Given the description of an element on the screen output the (x, y) to click on. 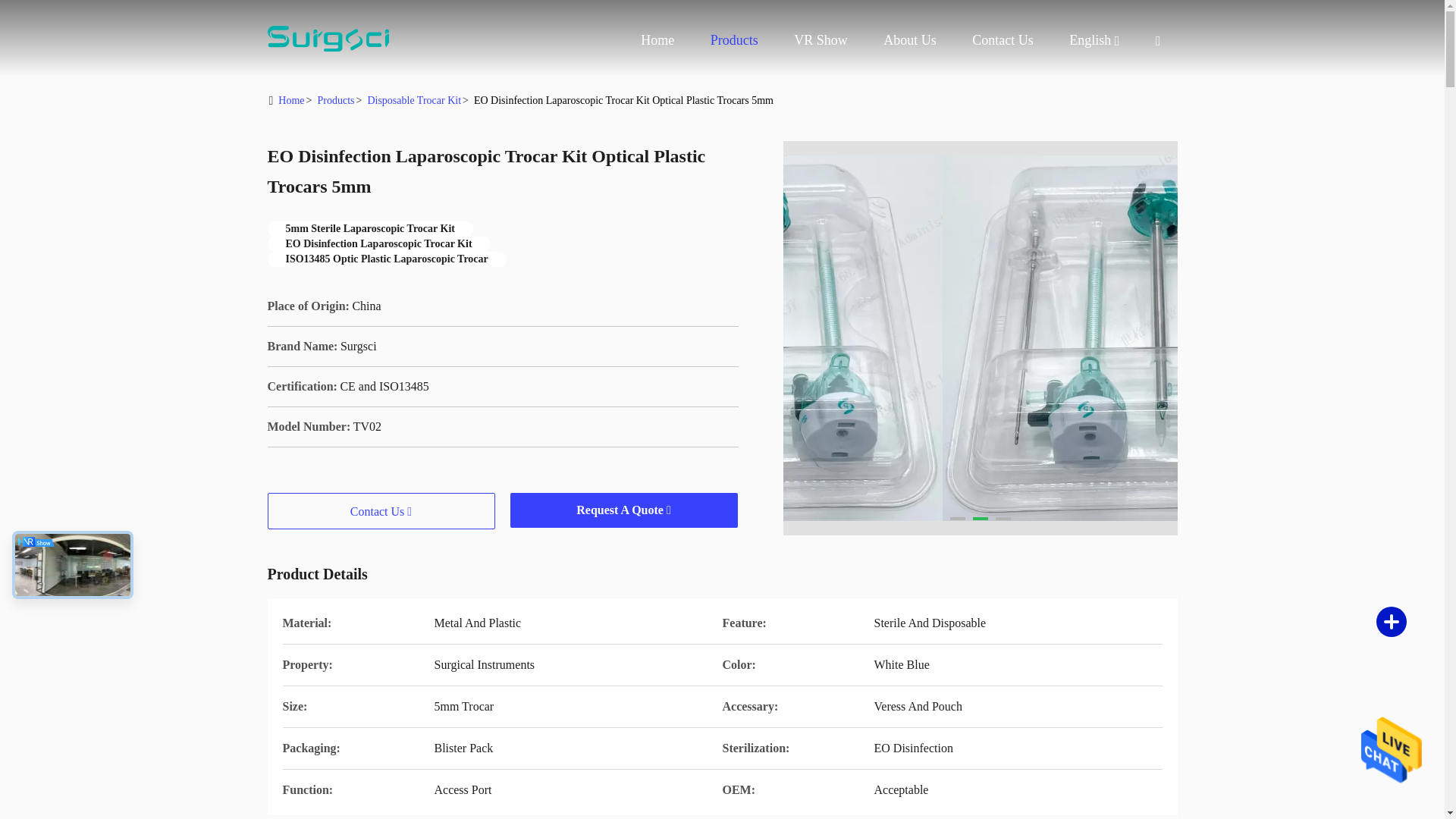
Home (327, 37)
Contact Us (1002, 40)
Products (734, 40)
Home (657, 40)
Products (734, 40)
Home (657, 40)
VR Show (820, 40)
VR Show (820, 40)
About Us (909, 40)
